Given the description of an element on the screen output the (x, y) to click on. 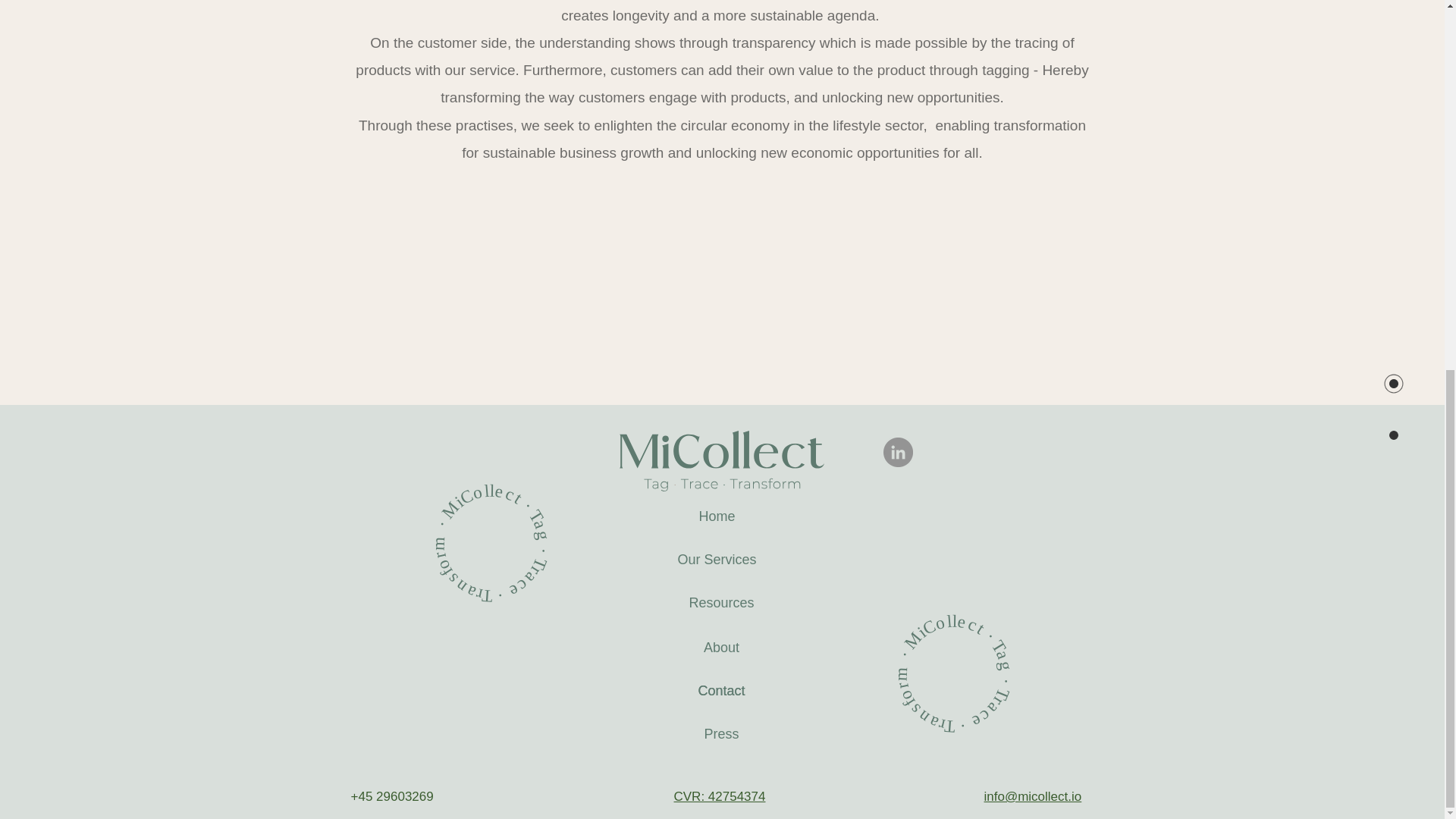
Our Services (716, 559)
Contact (721, 690)
Resources (721, 602)
CVR: 42754374 (718, 795)
Press (721, 733)
About (721, 647)
Home (716, 516)
